Given the description of an element on the screen output the (x, y) to click on. 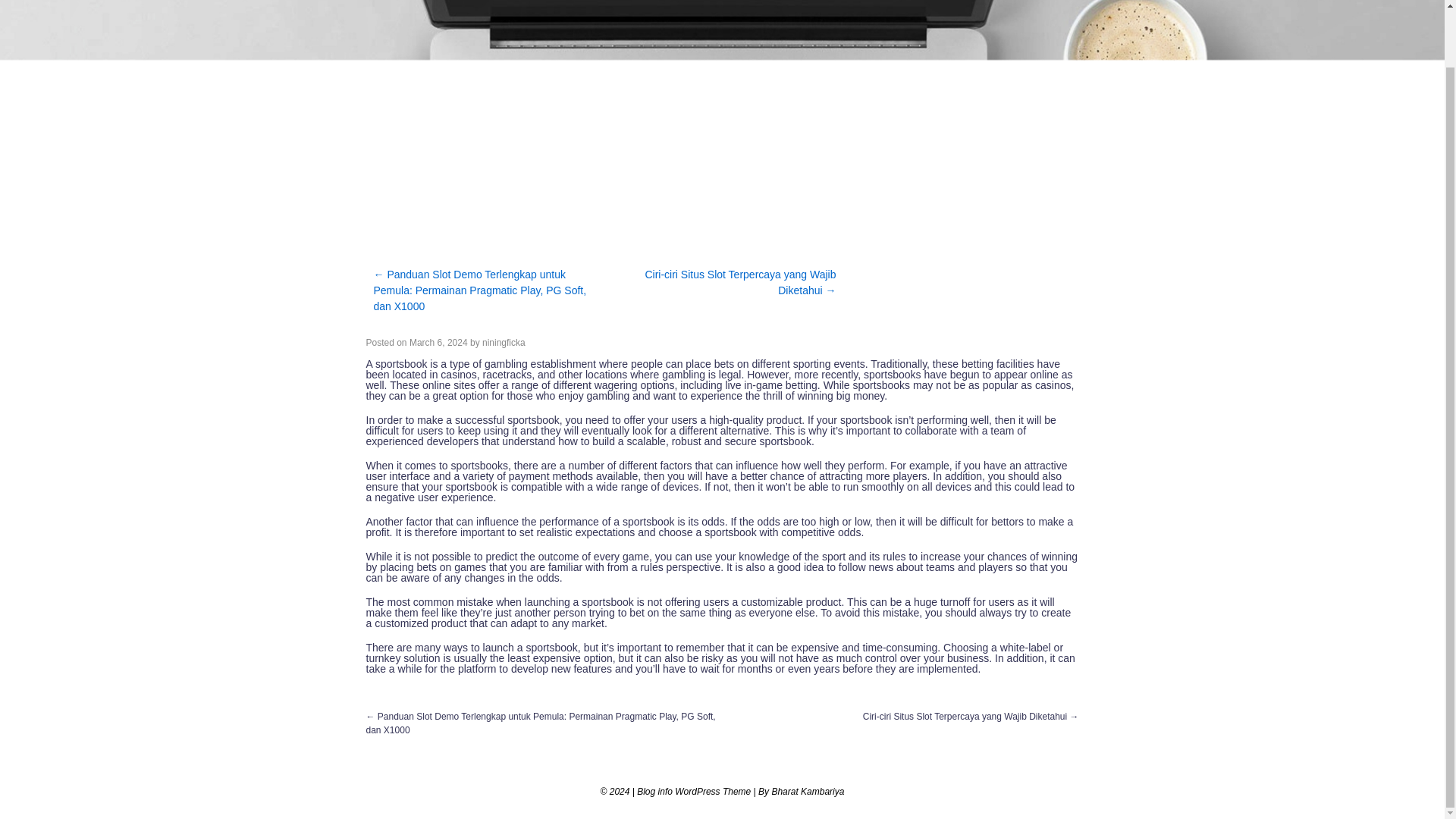
March 6, 2024 (438, 342)
niningficka (503, 342)
View all posts by niningficka (503, 342)
7:23 pm (438, 342)
